Given the description of an element on the screen output the (x, y) to click on. 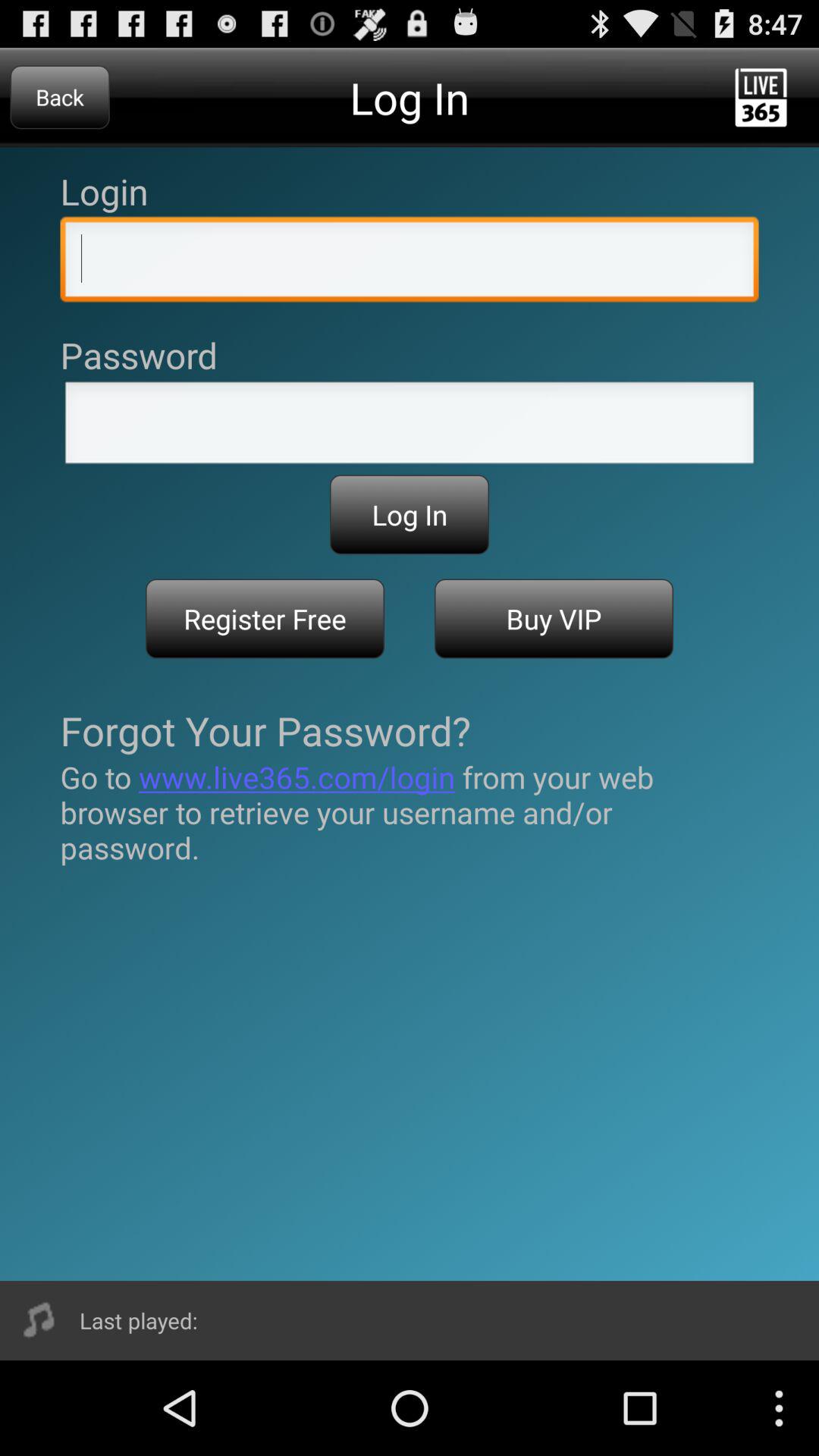
launch item below log in (553, 618)
